Given the description of an element on the screen output the (x, y) to click on. 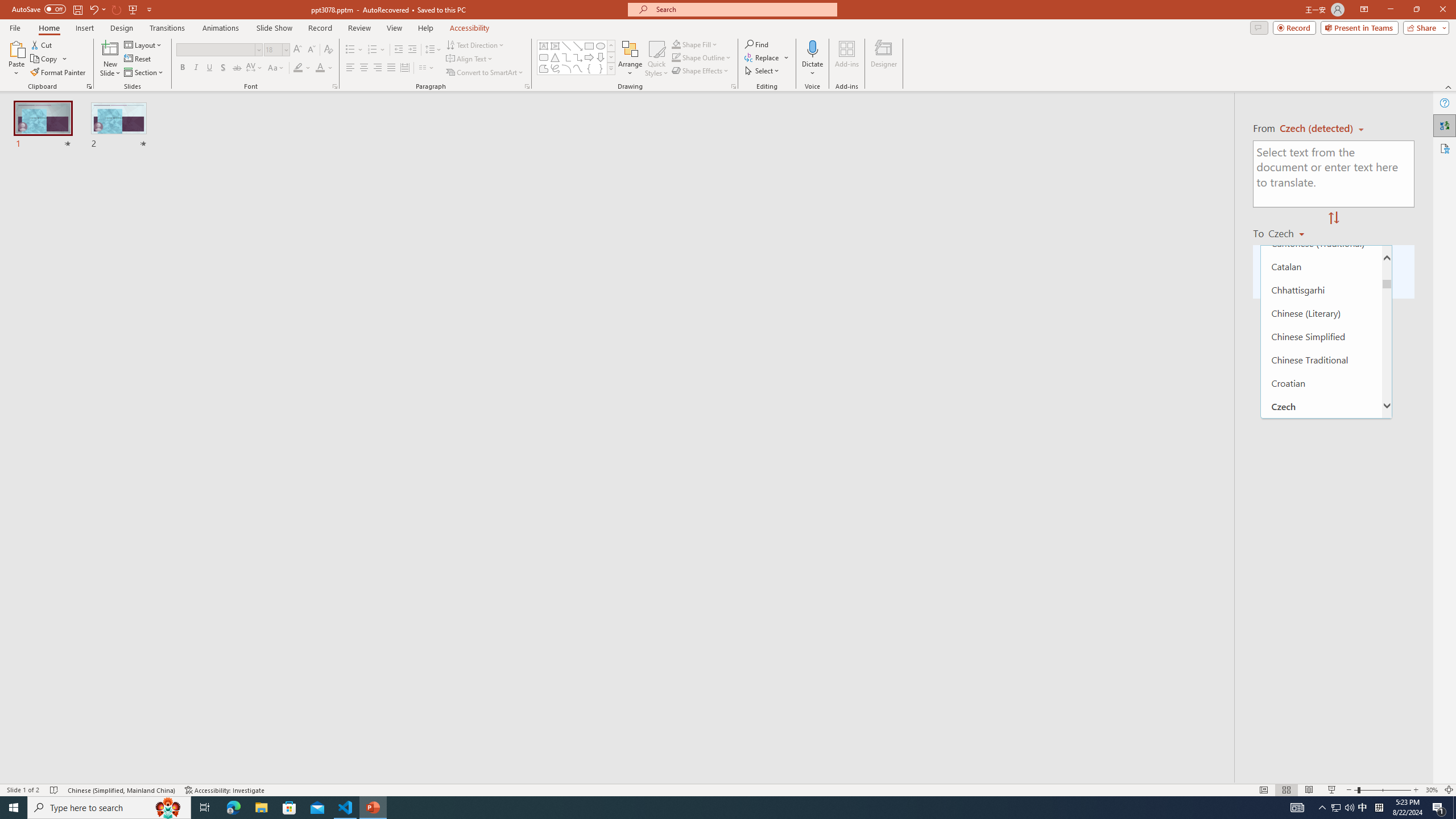
Georgian (1320, 778)
Bodo (1320, 173)
